Given the description of an element on the screen output the (x, y) to click on. 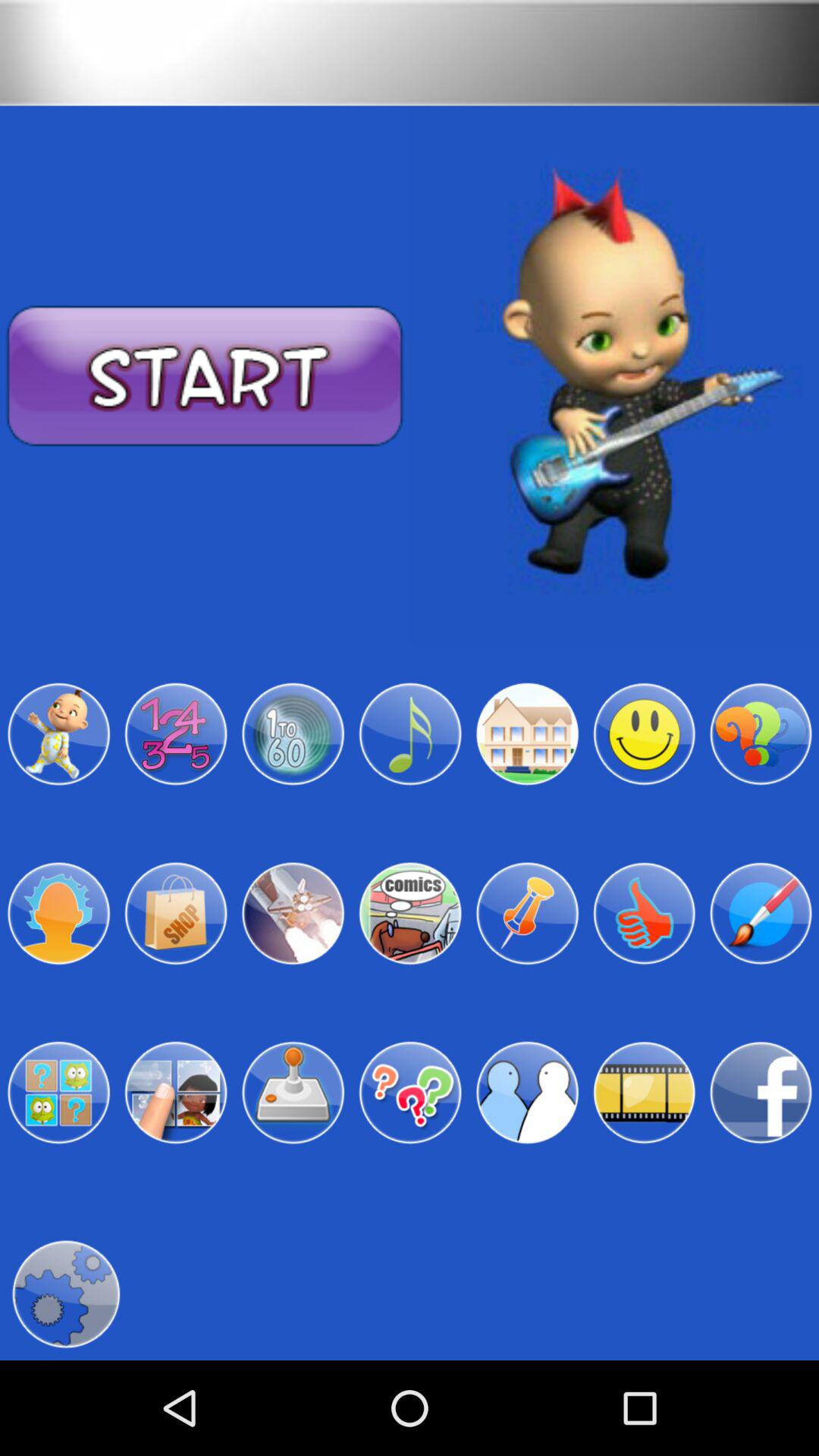
question section (409, 1092)
